Given the description of an element on the screen output the (x, y) to click on. 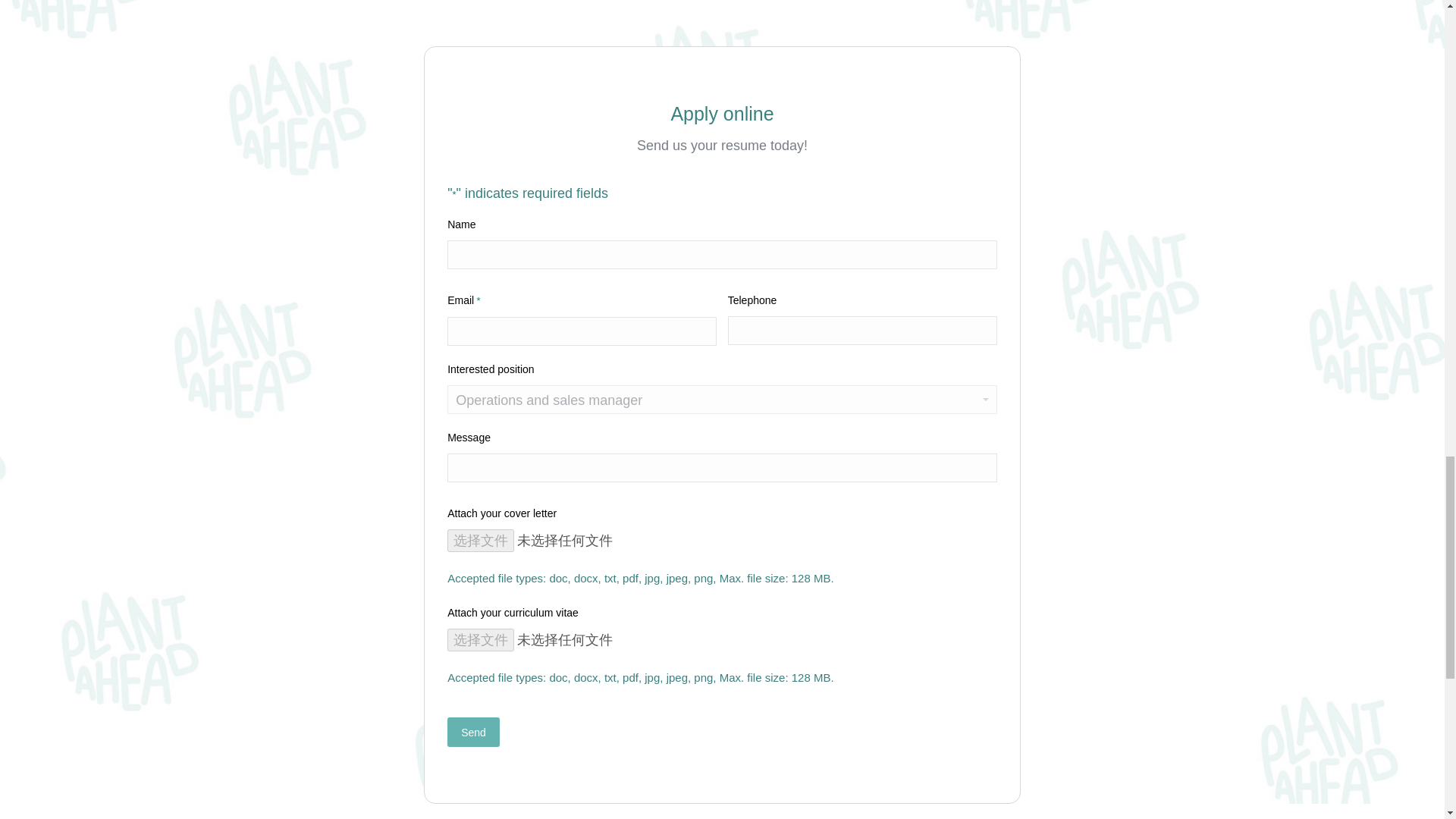
Send (472, 731)
